Given the description of an element on the screen output the (x, y) to click on. 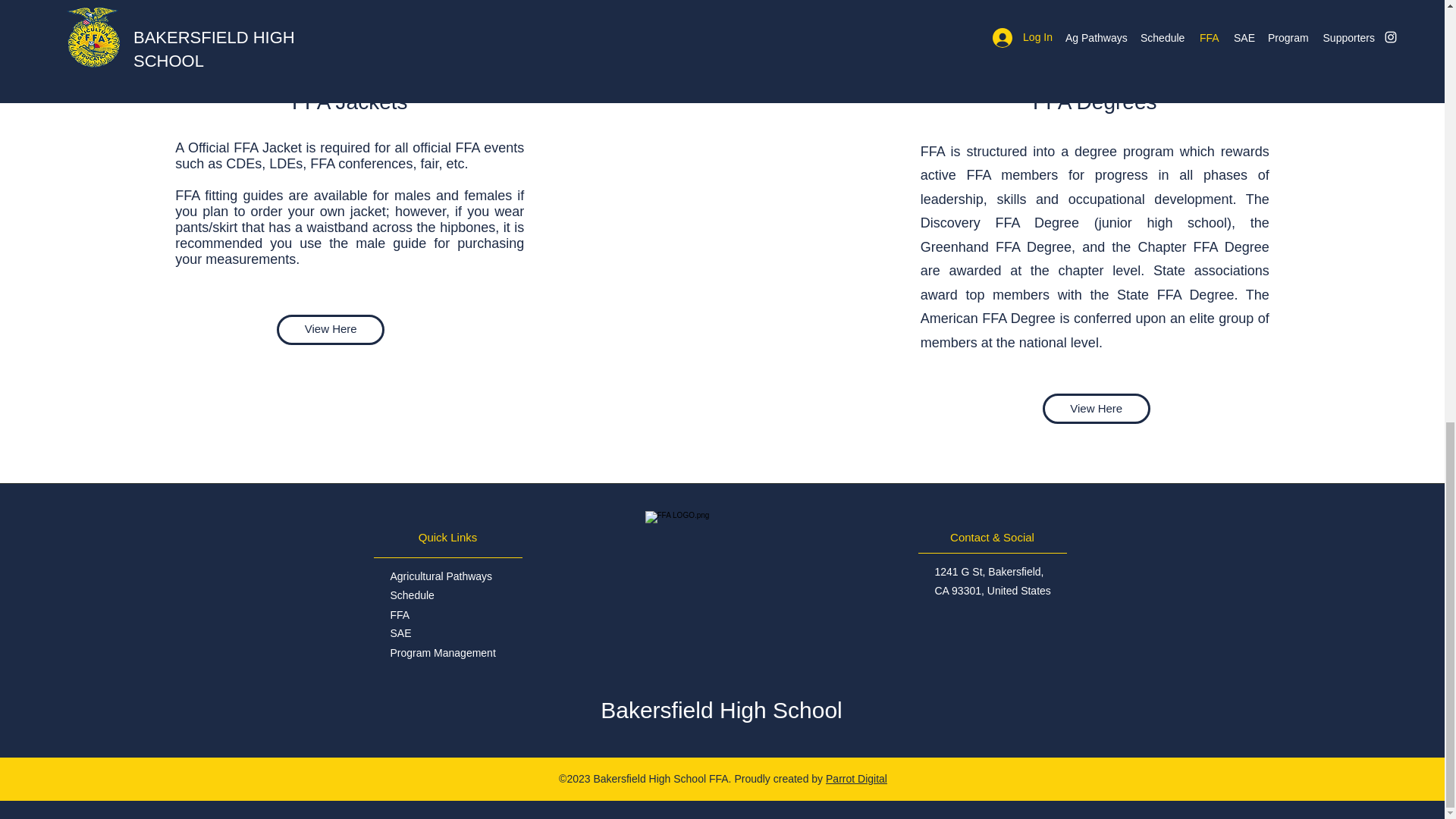
SAE (400, 633)
Program Management (442, 653)
View Here (330, 328)
Schedule (411, 594)
Agricultural Pathways (441, 576)
View Here (1096, 408)
1241 G St, Bakersfield, CA 93301, United States (991, 581)
Parrot Digital (855, 778)
FFA (399, 614)
